Given the description of an element on the screen output the (x, y) to click on. 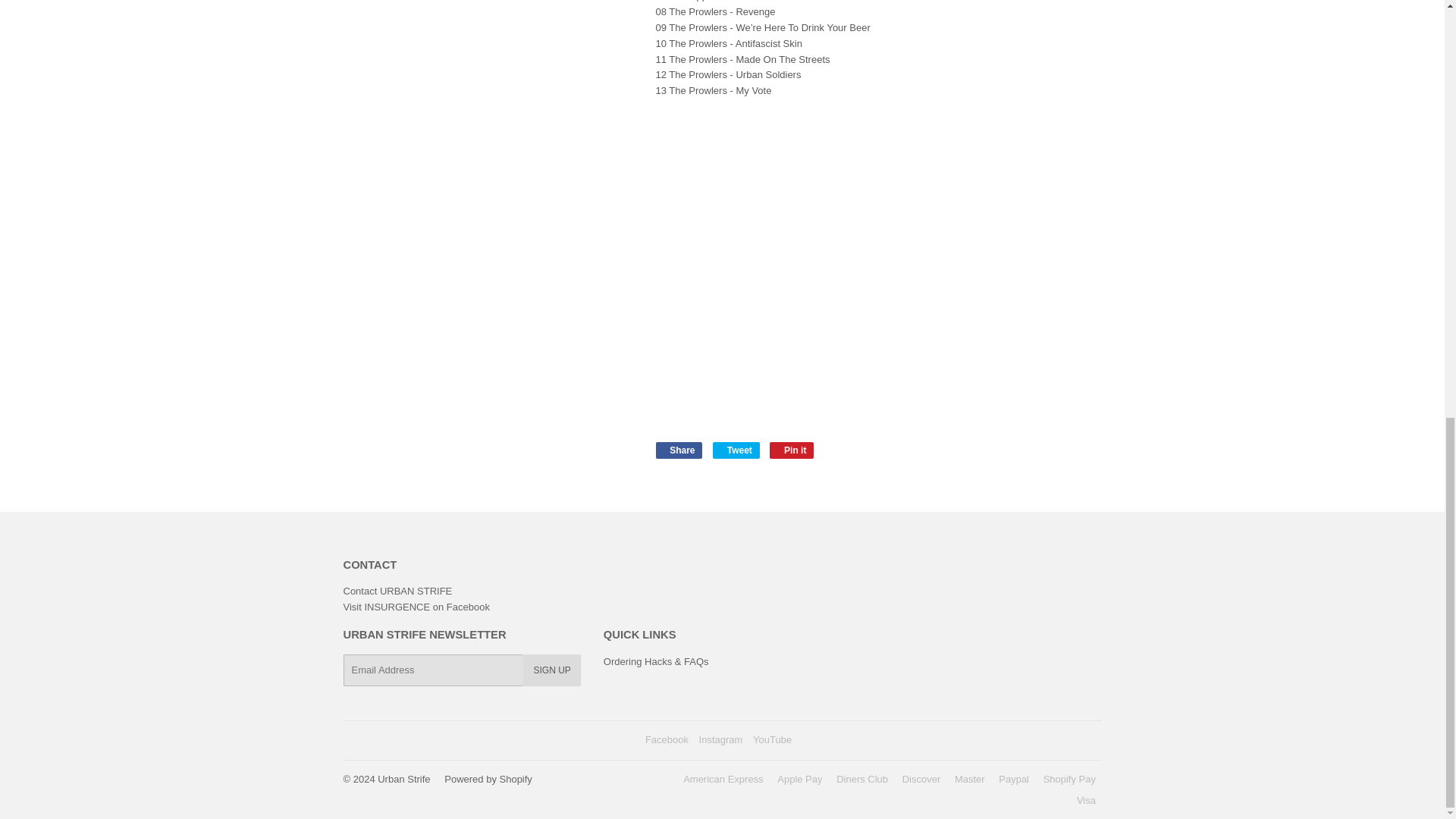
Tweet on Twitter (736, 450)
Urban Strife on Facebook (666, 739)
Pin on Pinterest (791, 450)
Share on Facebook (678, 450)
Urban Strife on YouTube (772, 739)
Urban Strife on Instagram (720, 739)
Contact Us (396, 591)
